Given the description of an element on the screen output the (x, y) to click on. 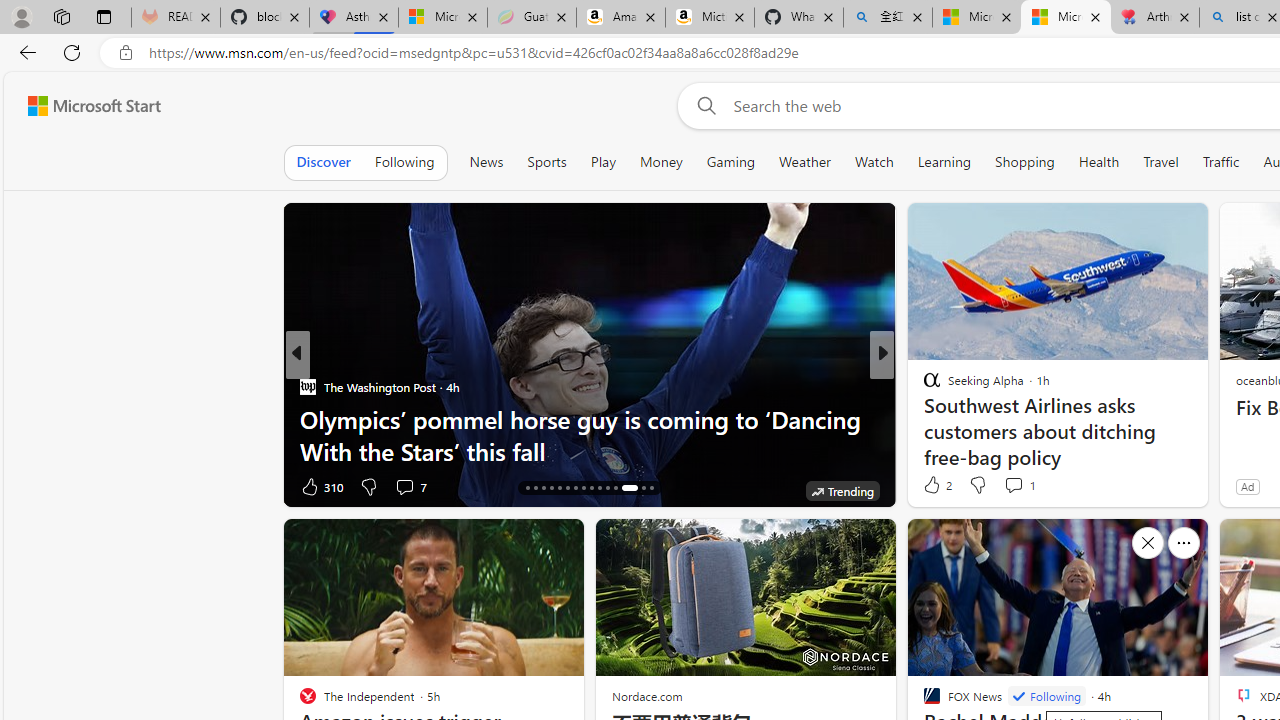
AutomationID: tab-19 (550, 487)
Money (661, 162)
Learning (944, 161)
Weather (804, 162)
View comments 3 Comment (398, 485)
See more (1183, 542)
Money (660, 161)
View comments 20 Comment (1029, 486)
Asthma Inhalers: Names and Types (353, 17)
News (485, 162)
AutomationID: tab-23 (582, 487)
Watch (874, 162)
